Given the description of an element on the screen output the (x, y) to click on. 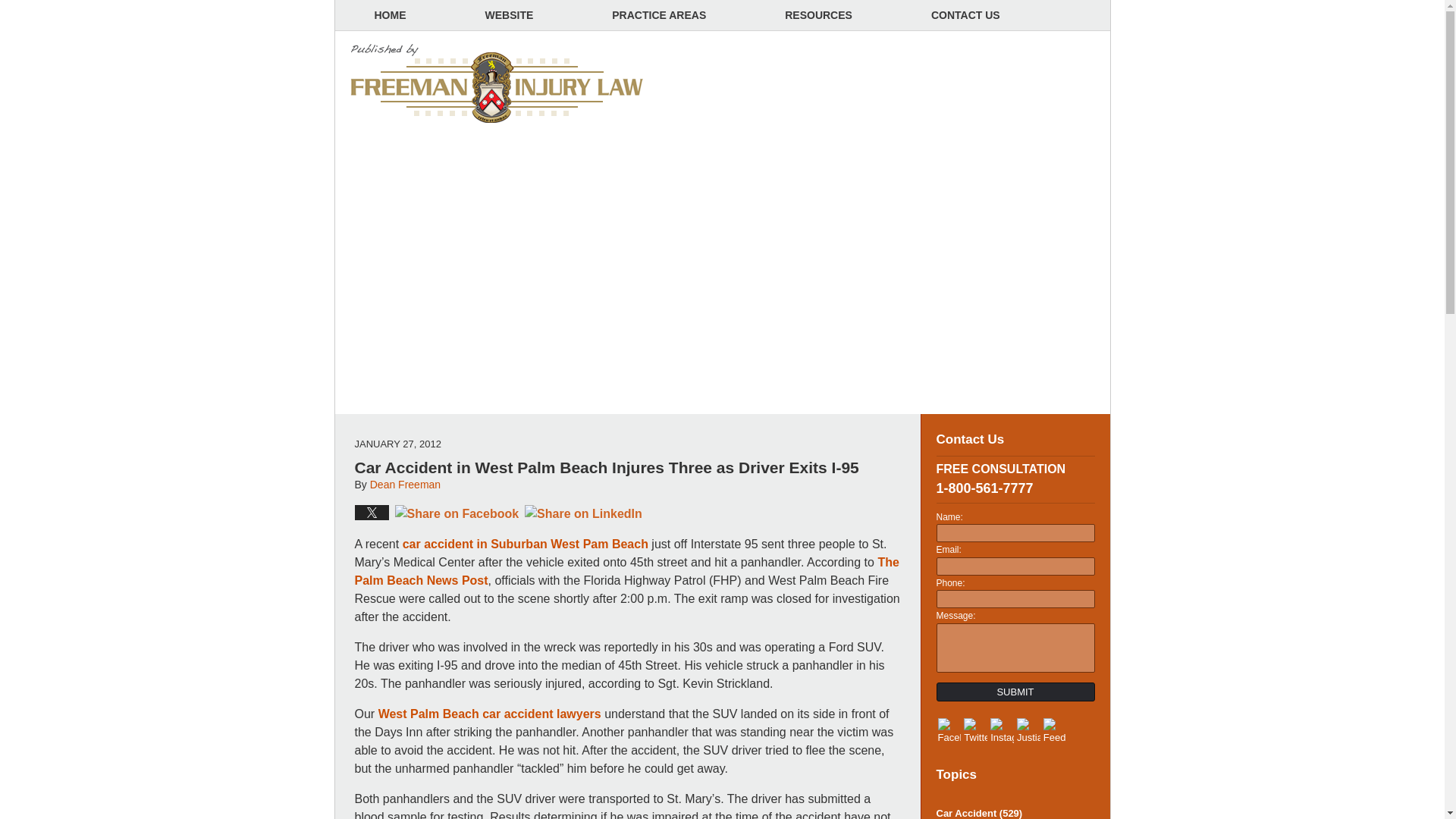
Published By Freeman Injury Law (981, 81)
The Palm Beach News Post (627, 571)
Instagram (1001, 731)
HOME (389, 15)
RESOURCES (818, 15)
Dean Freeman (405, 484)
Facebook (949, 731)
Please enter a valid phone number. (1015, 598)
car accident in Suburban West Pam Beach (525, 543)
Twitter (975, 731)
